Given the description of an element on the screen output the (x, y) to click on. 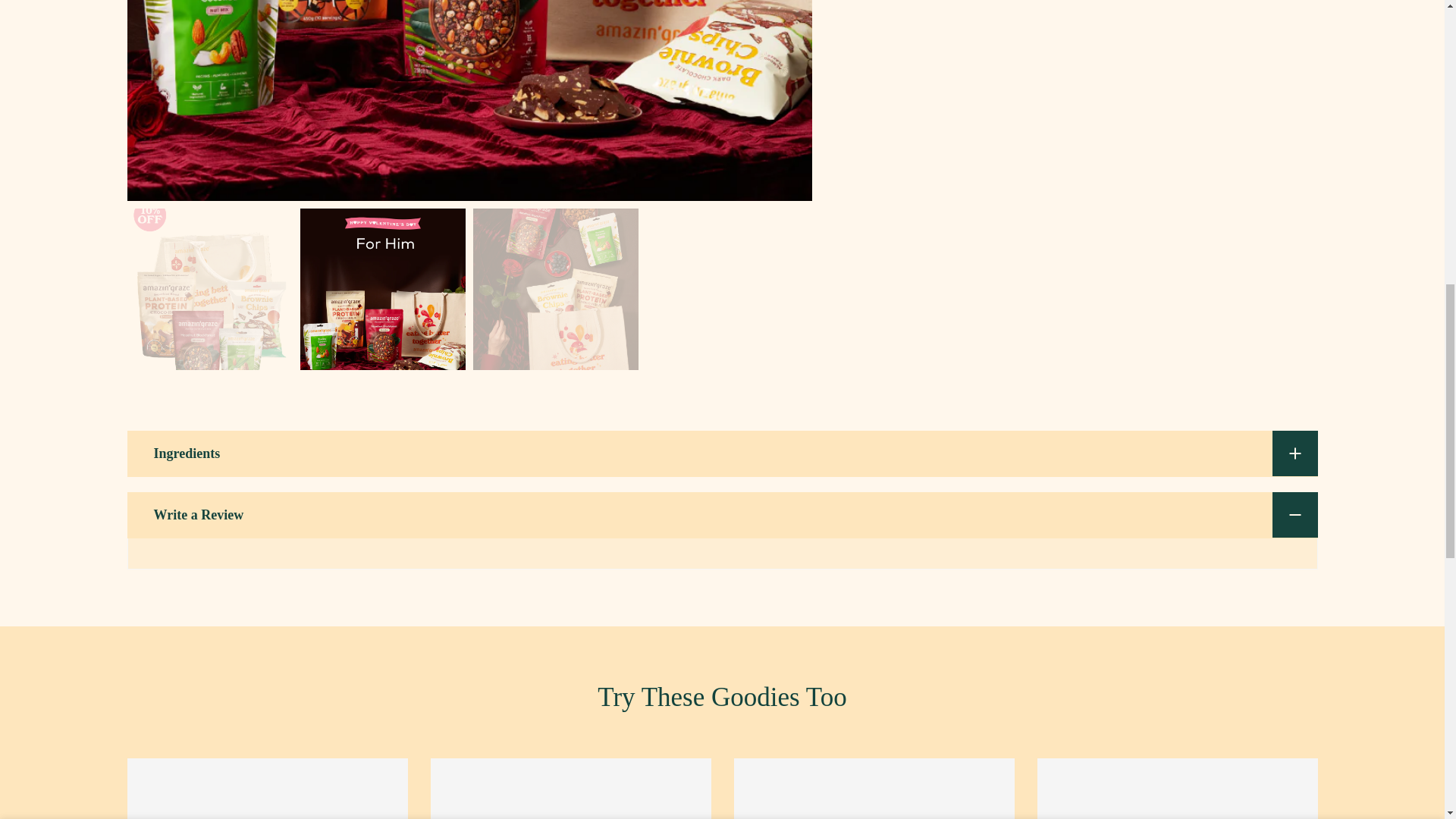
Ingredients (722, 453)
1 (1150, 36)
